Given the description of an element on the screen output the (x, y) to click on. 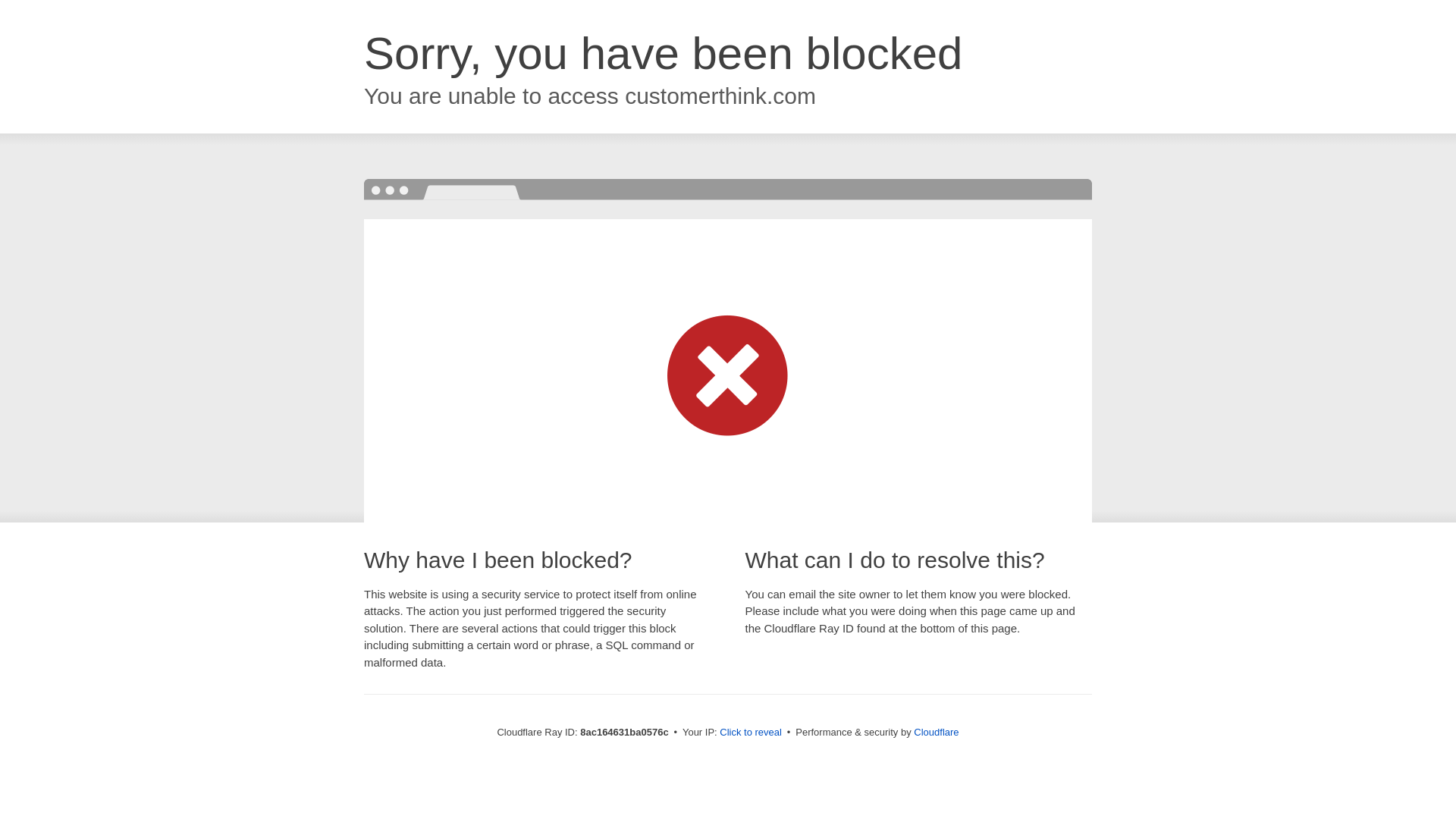
Cloudflare (936, 731)
Click to reveal (750, 732)
